Given the description of an element on the screen output the (x, y) to click on. 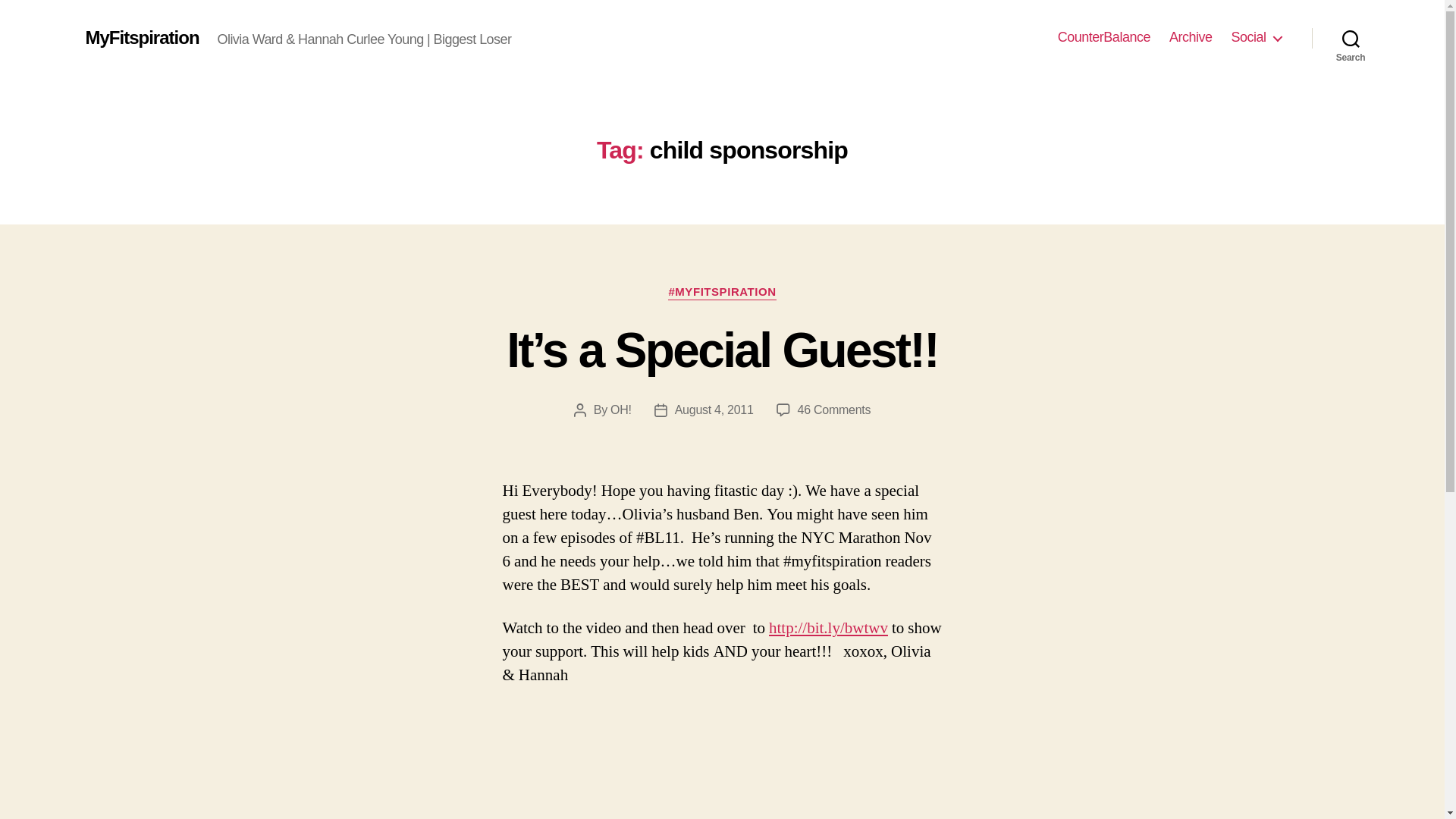
CounterBalance (1104, 37)
OH! (620, 409)
MyFitspiration (141, 37)
Search (1350, 37)
Social (1255, 37)
August 4, 2011 (714, 409)
Archive (1190, 37)
